Given the description of an element on the screen output the (x, y) to click on. 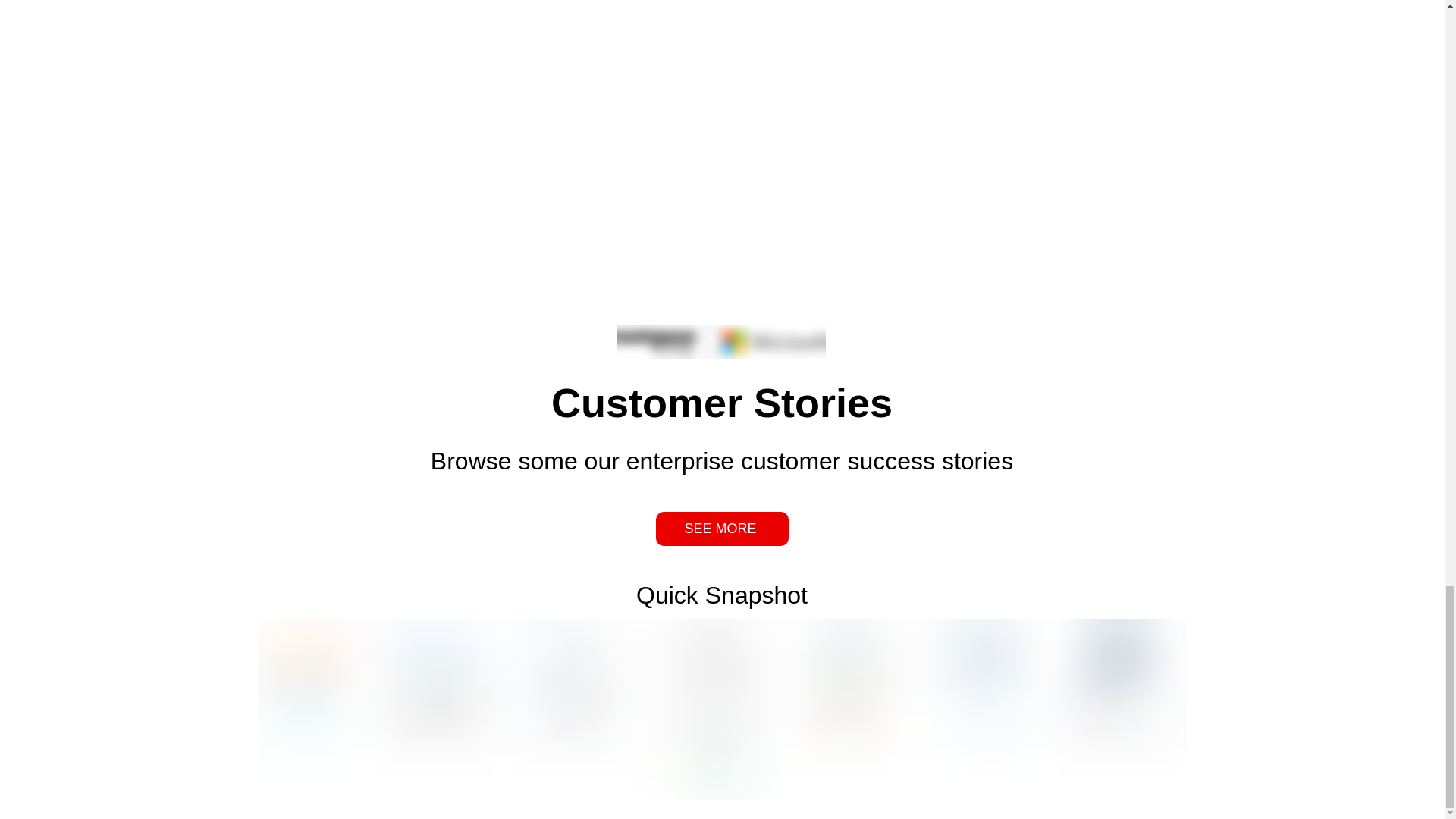
SEE MORE (721, 528)
